Given the description of an element on the screen output the (x, y) to click on. 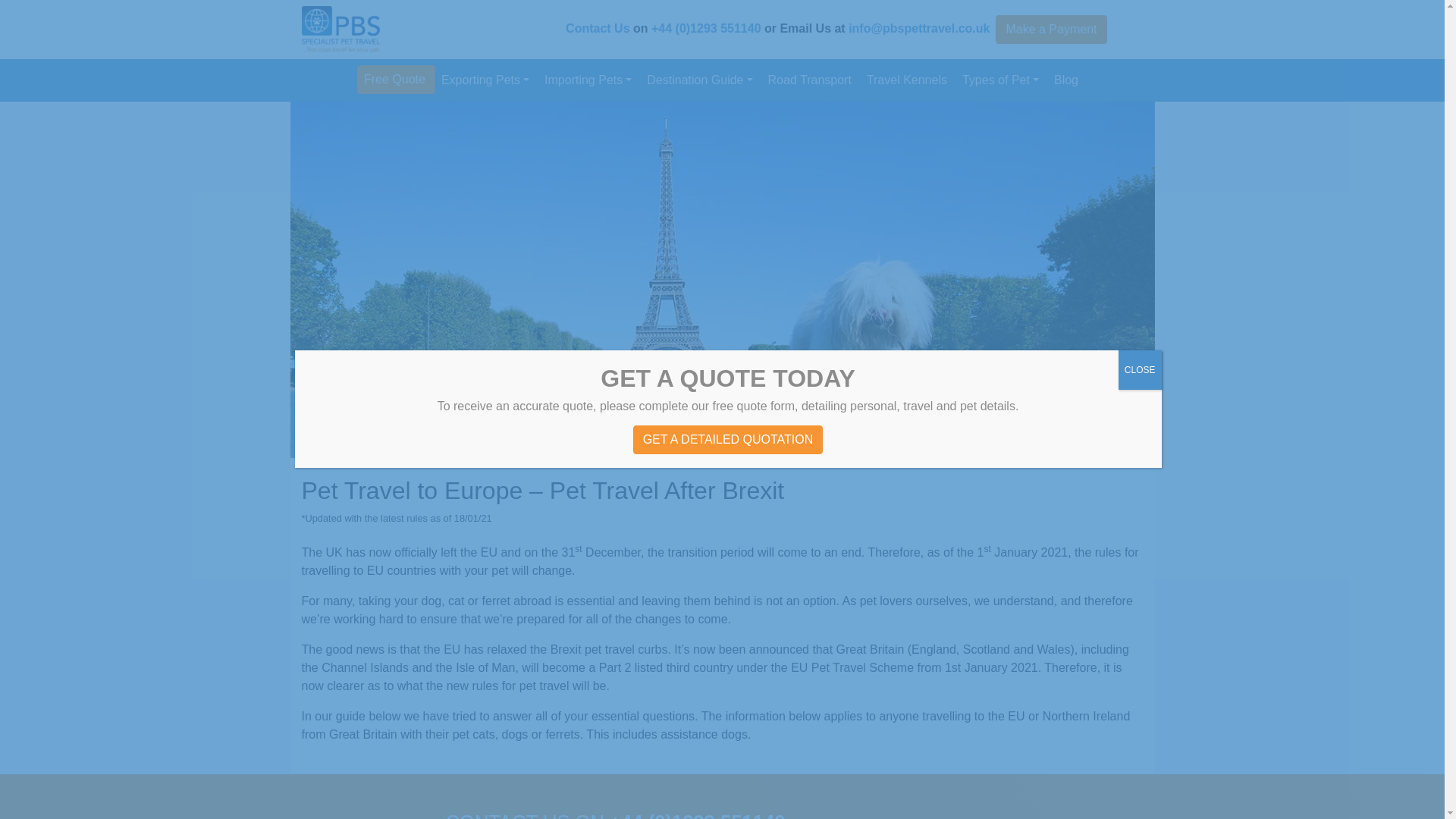
Contact Us (597, 28)
Importing Pets (589, 80)
Destination Guide (700, 80)
Free Quote (395, 79)
Free Quote (395, 79)
Exporting Pets (486, 80)
Make a Payment (1050, 29)
Importing Pets (589, 80)
Exporting Pets (486, 80)
